Given the description of an element on the screen output the (x, y) to click on. 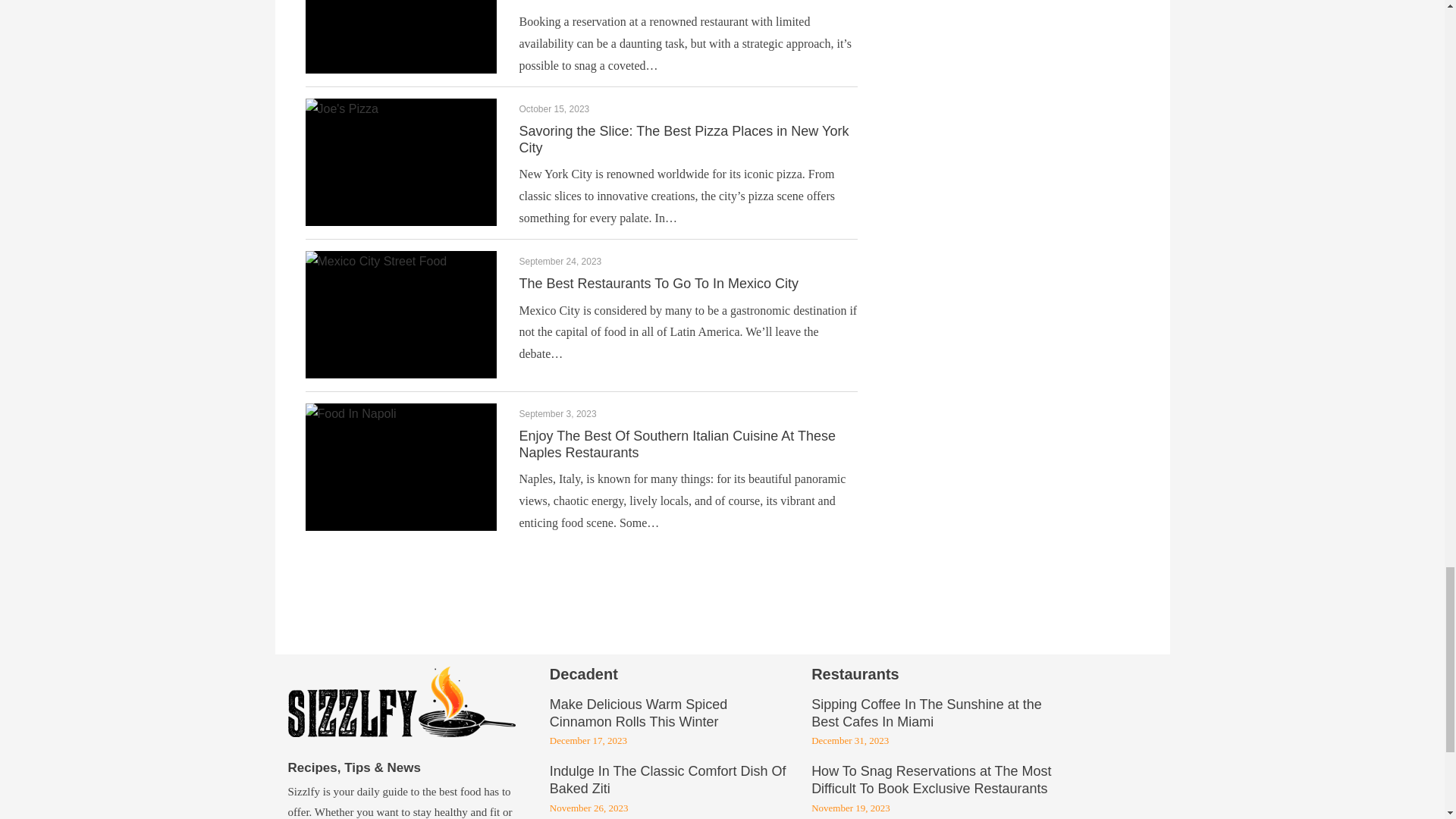
The Best Restaurants To Go To In Mexico City (657, 283)
Indulge In The Classic Comfort Dish Of Baked Ziti (668, 780)
Make Delicious Warm Spiced Cinnamon Rolls This Winter (638, 714)
Savoring the Slice: The Best Pizza Places in New York City (683, 139)
